Given the description of an element on the screen output the (x, y) to click on. 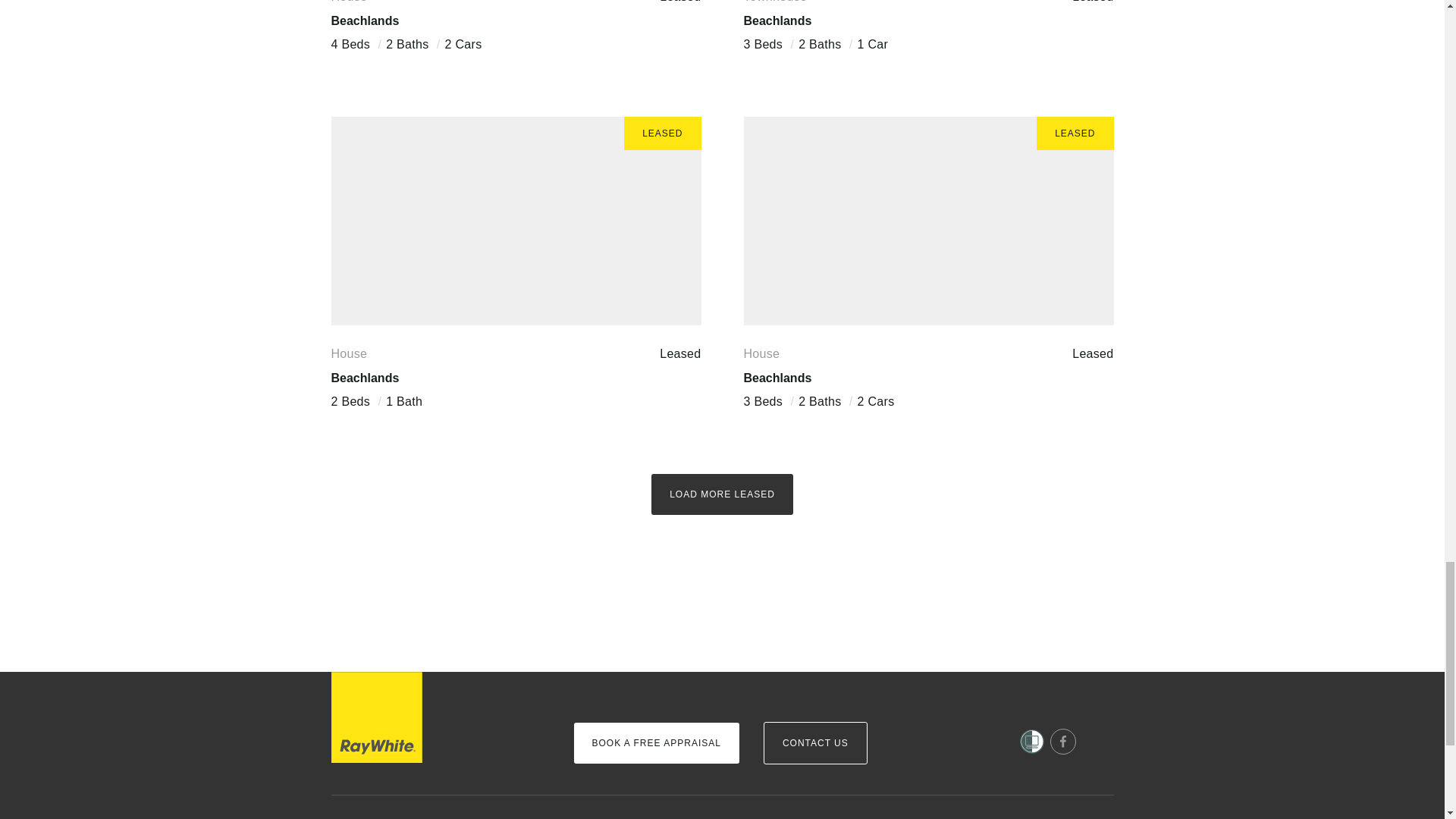
BOOK A FREE APPRAISAL (655, 742)
Beachlands (364, 20)
Beachlands (364, 377)
Facebook (1062, 741)
Beachlands (776, 20)
LEASED (515, 221)
Ray White (376, 716)
Beachlands (776, 377)
CONTACT US (814, 742)
LEASED (927, 221)
